Given the description of an element on the screen output the (x, y) to click on. 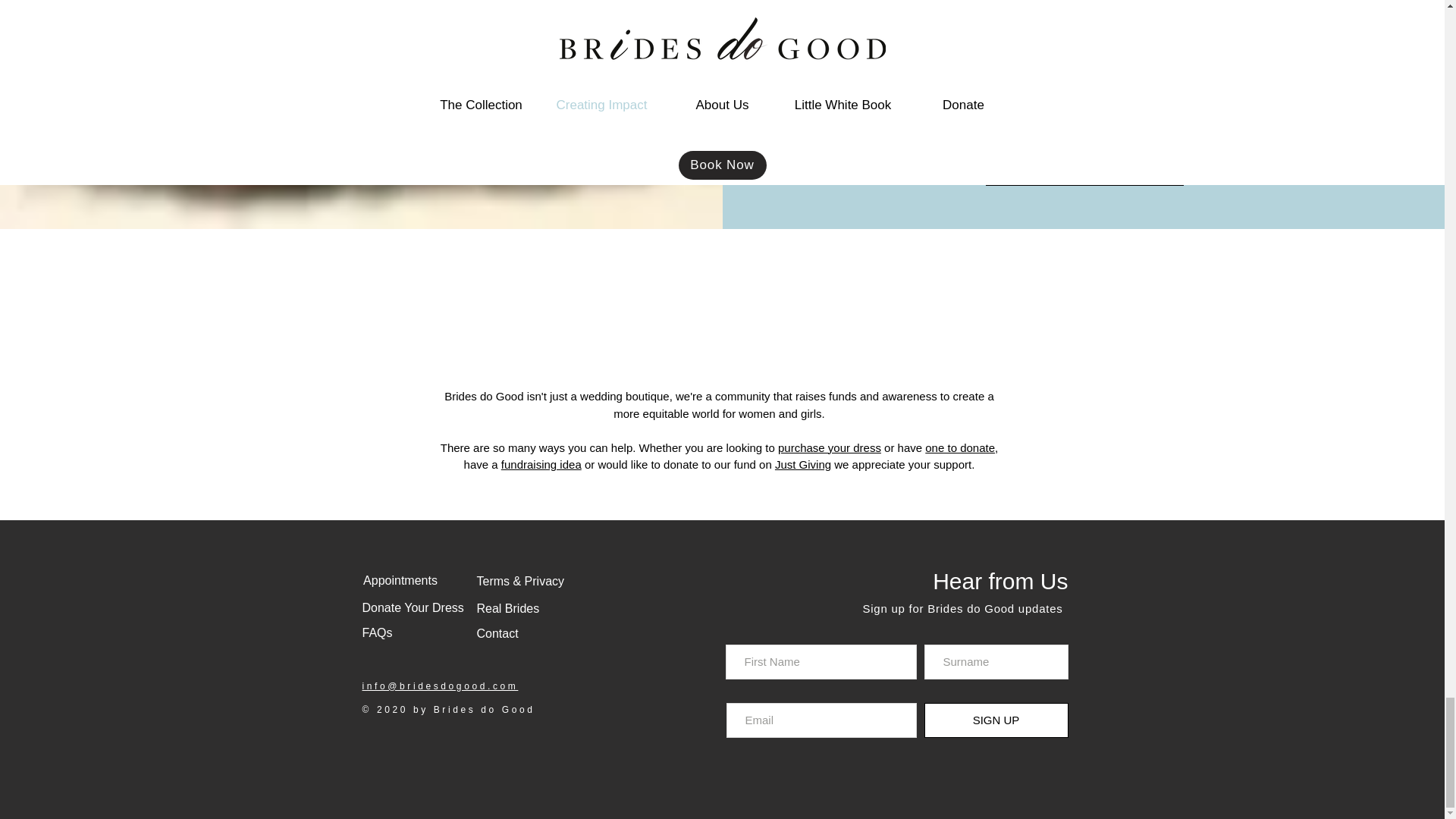
Real Brides (507, 608)
Donate Your Dress (413, 608)
one to donate (959, 446)
Contact (497, 634)
SIGN UP (995, 719)
FAQs (377, 632)
Just Giving (802, 463)
purchase your dress (828, 446)
Appointments (400, 580)
fundraising idea (540, 463)
